Given the description of an element on the screen output the (x, y) to click on. 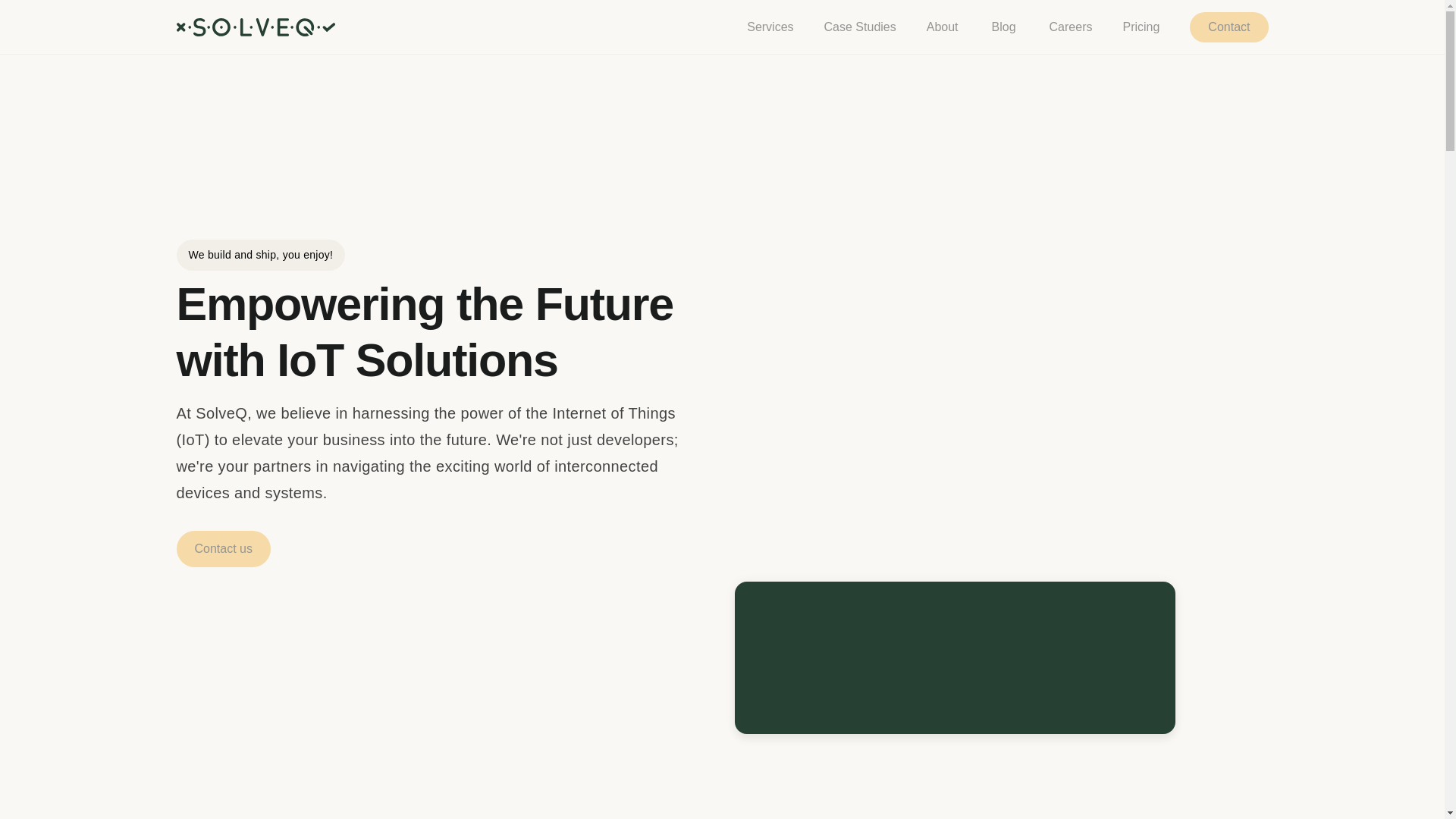
Contact (1228, 25)
Services (769, 25)
Contact us (222, 548)
Pricing (1140, 25)
Careers (1071, 27)
Case Studies (860, 27)
Services (769, 27)
Blog (1003, 25)
About (942, 25)
About (942, 27)
Careers (1071, 25)
Contact us (222, 548)
Blog (1003, 27)
Contact (1228, 27)
Case Studies (860, 25)
